Given the description of an element on the screen output the (x, y) to click on. 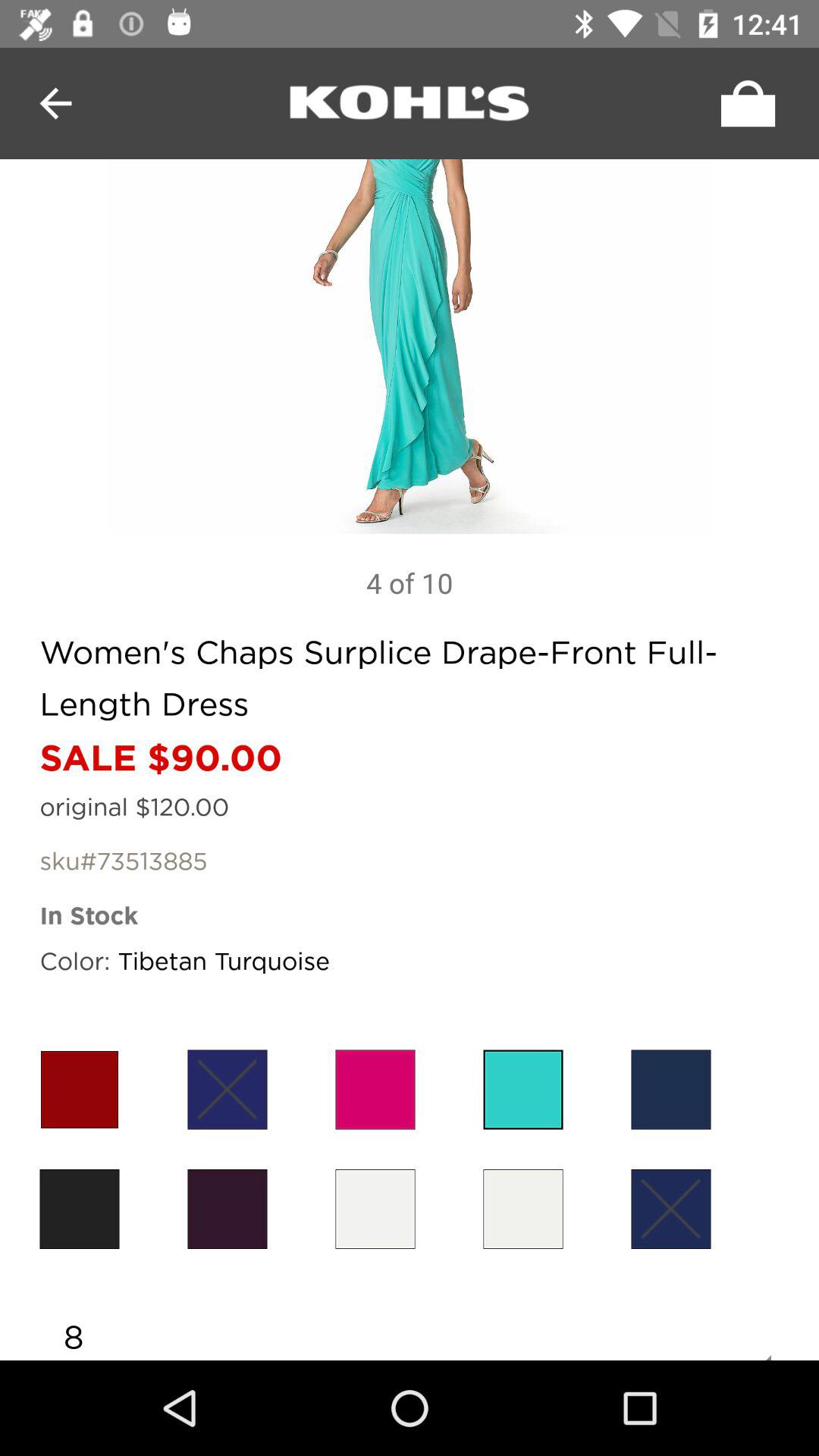
hyper link (409, 103)
